Given the description of an element on the screen output the (x, y) to click on. 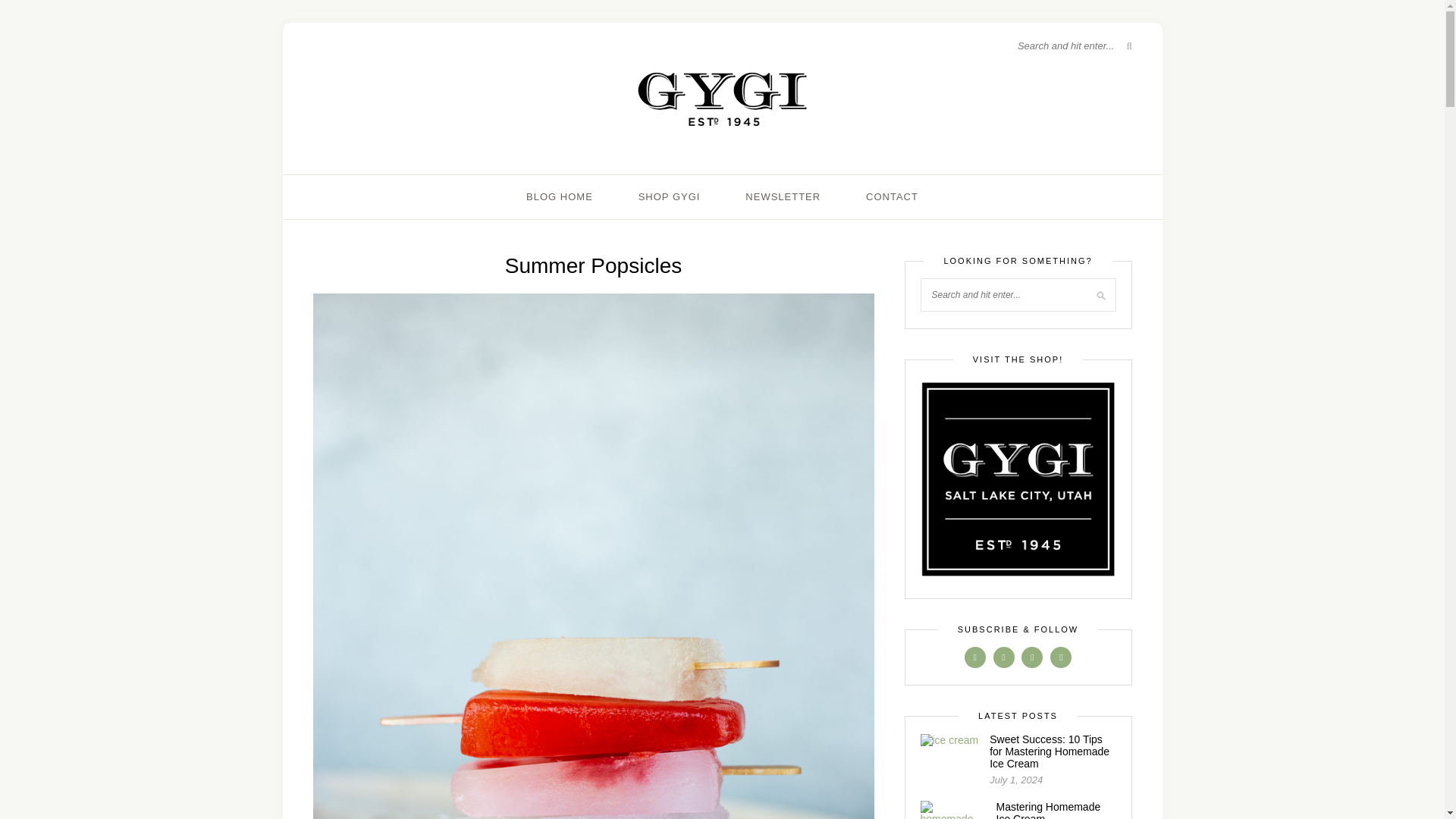
NEWSLETTER (783, 197)
SHOP GYGI (669, 197)
Gygi Shop (1018, 479)
CONTACT (892, 197)
BLOG HOME (558, 197)
